Given the description of an element on the screen output the (x, y) to click on. 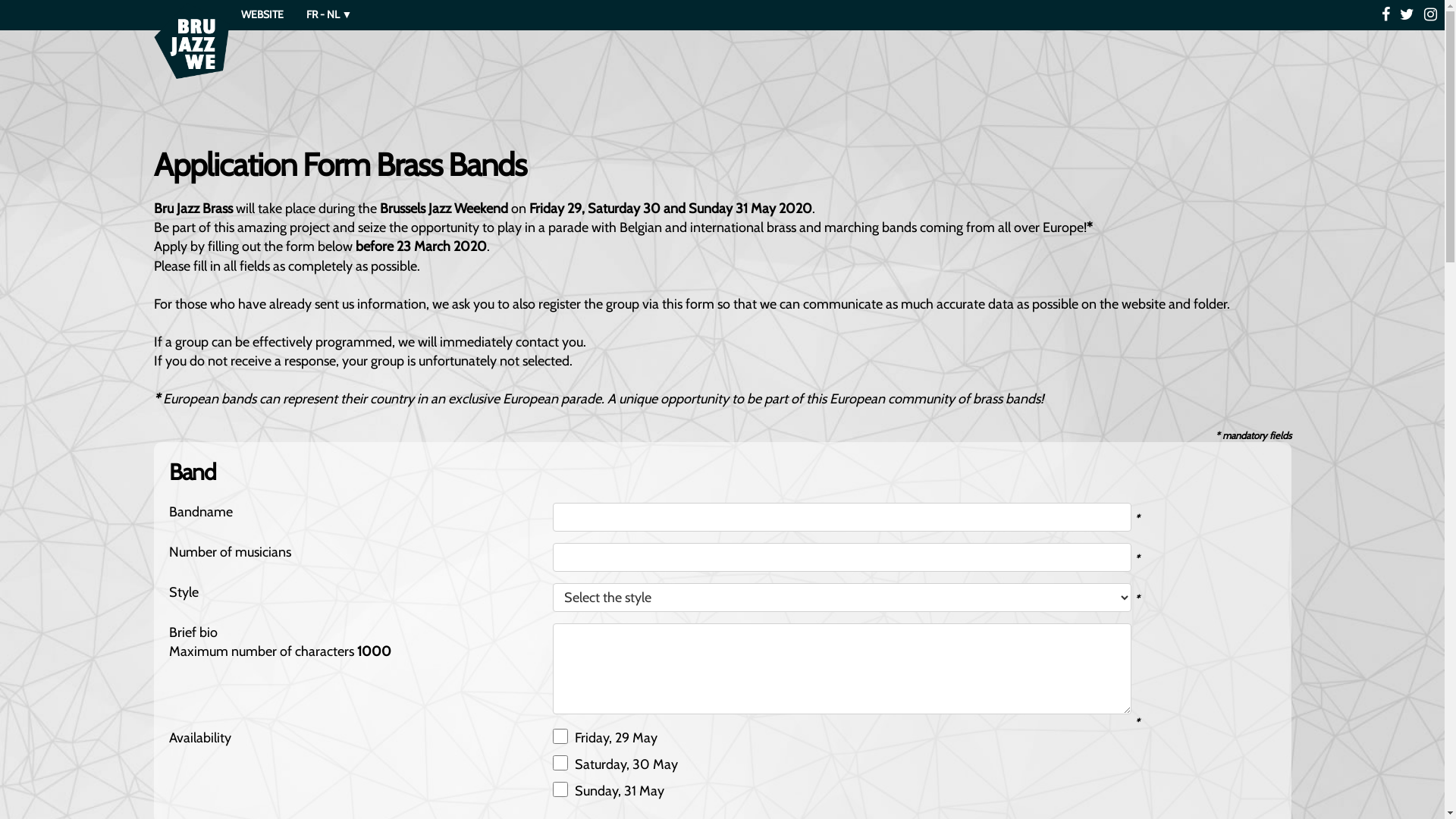
WEBSITE Element type: text (261, 15)
BRU JAZZ WE - Brussels Jazz Weekend Element type: hover (191, 40)
